Given the description of an element on the screen output the (x, y) to click on. 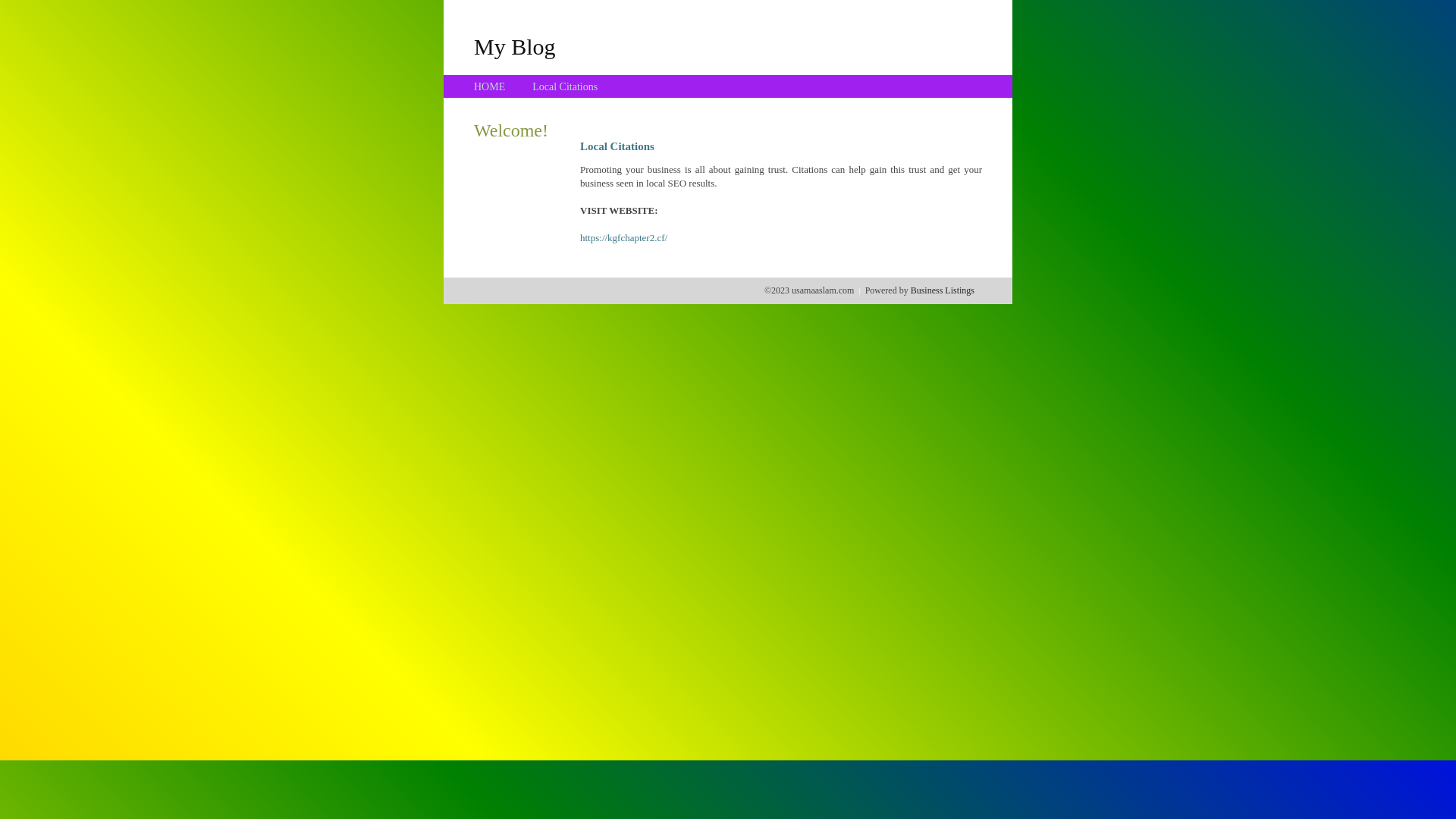
HOME Element type: text (489, 86)
My Blog Element type: text (514, 46)
Local Citations Element type: text (564, 86)
Business Listings Element type: text (942, 290)
https://kgfchapter2.cf/ Element type: text (623, 237)
